Given the description of an element on the screen output the (x, y) to click on. 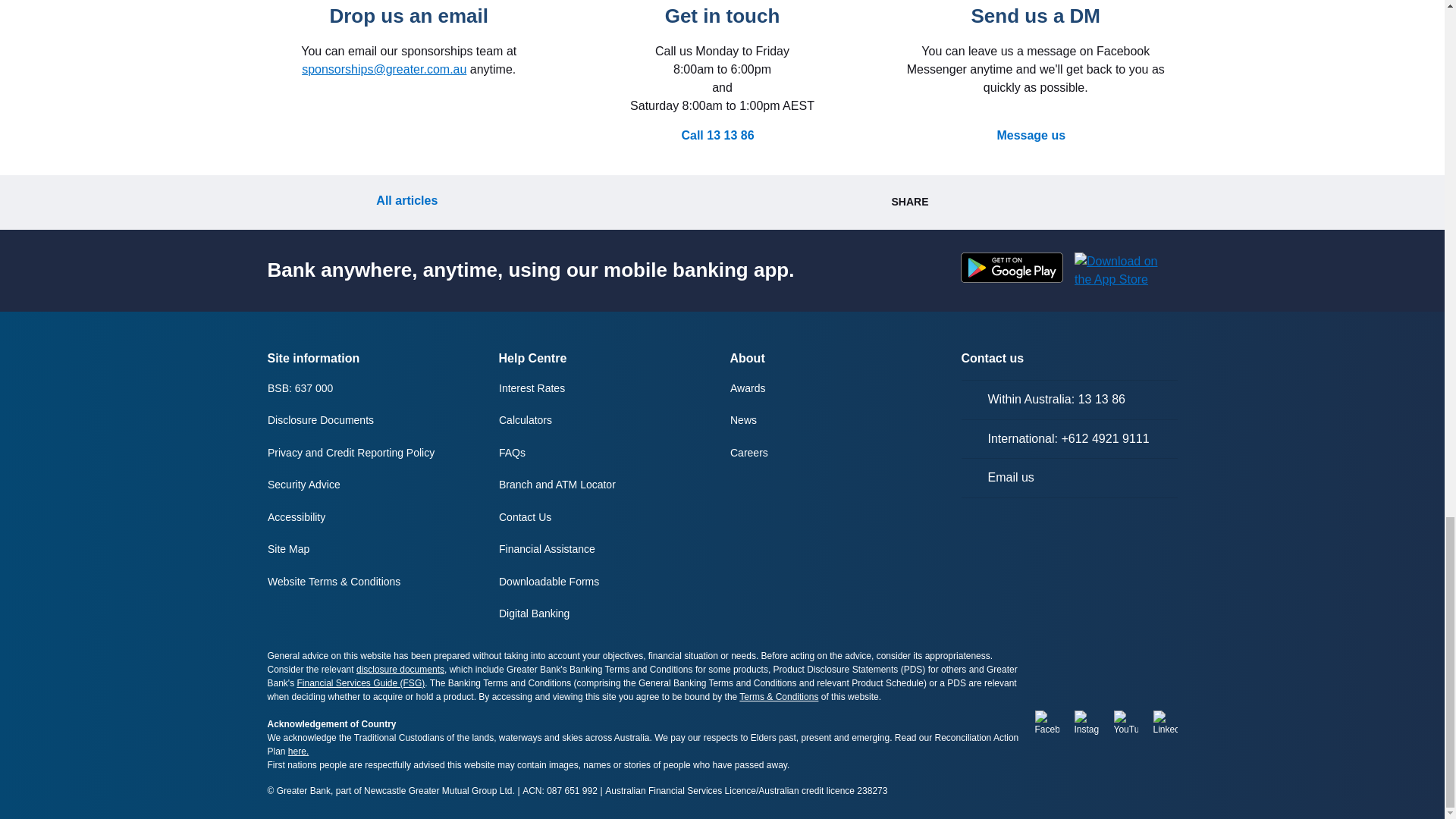
Send us a DM (1035, 16)
Message us (1034, 135)
Call 13 13 86 (721, 135)
All articles (398, 200)
Get in touch (722, 16)
